Given the description of an element on the screen output the (x, y) to click on. 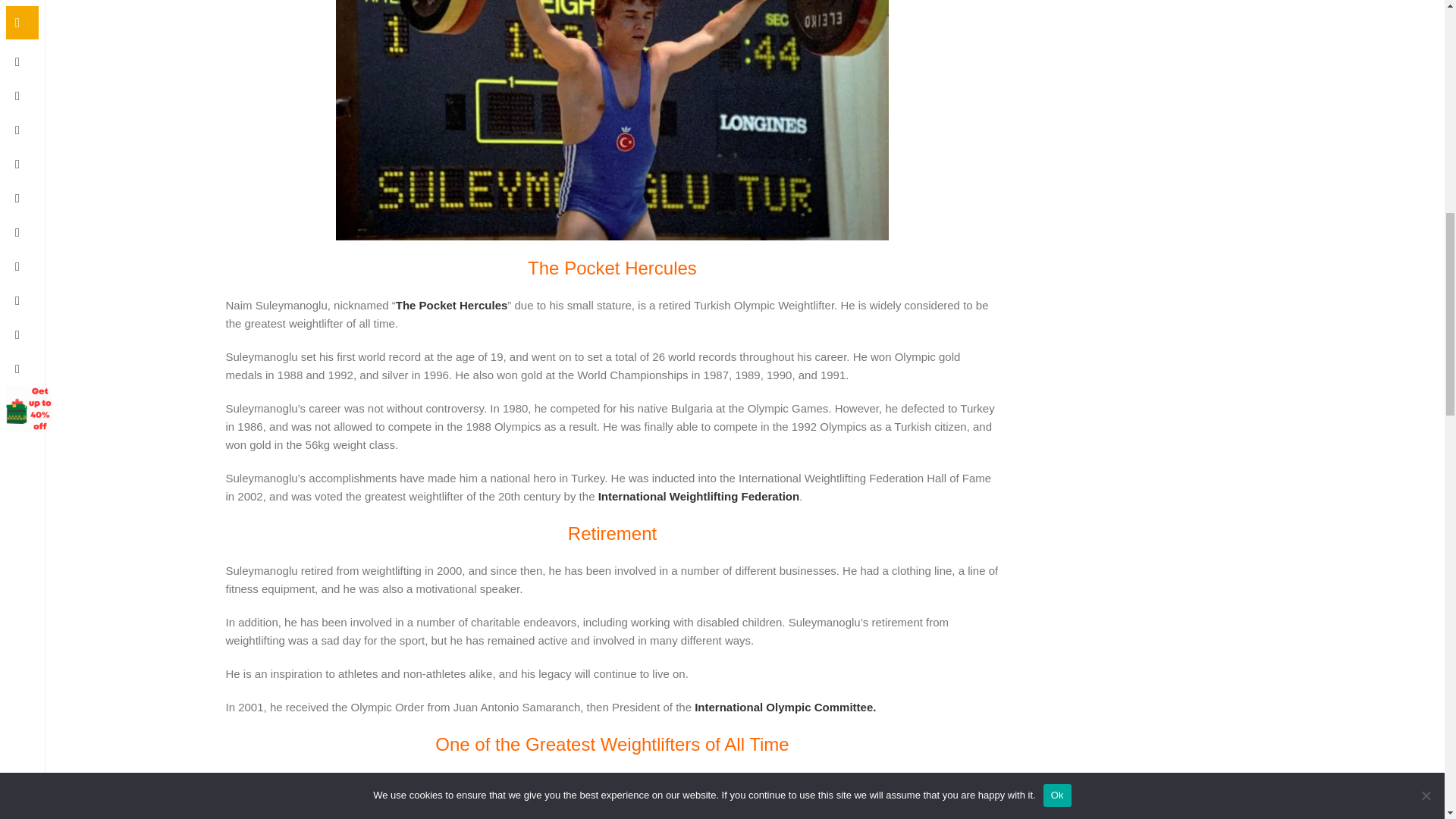
International Weightlifting Federation (698, 495)
The Pocket Hercules (452, 305)
turkish weighlifting legend naim suleymanoglu (612, 120)
International Olympic Committee. (785, 707)
